Given the description of an element on the screen output the (x, y) to click on. 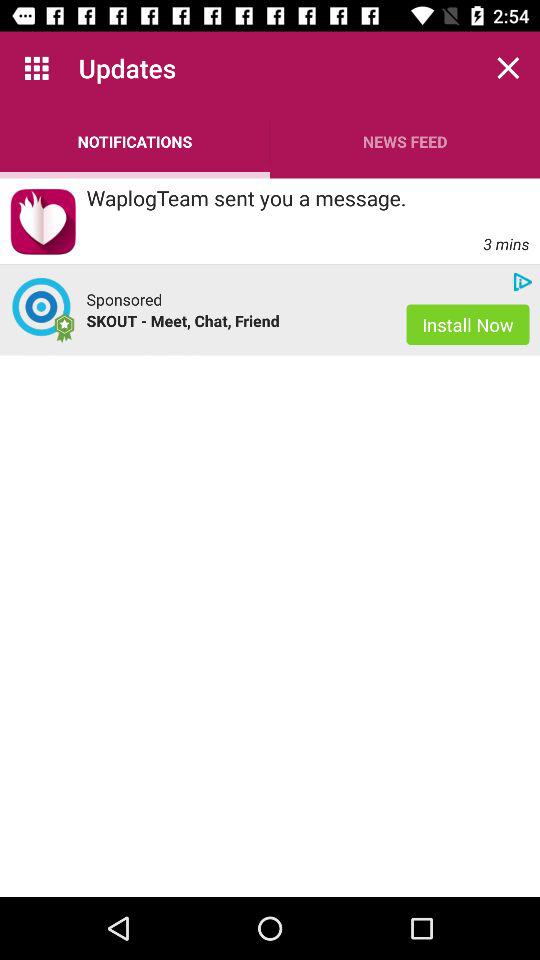
turn on item next to the notifications app (405, 141)
